Given the description of an element on the screen output the (x, y) to click on. 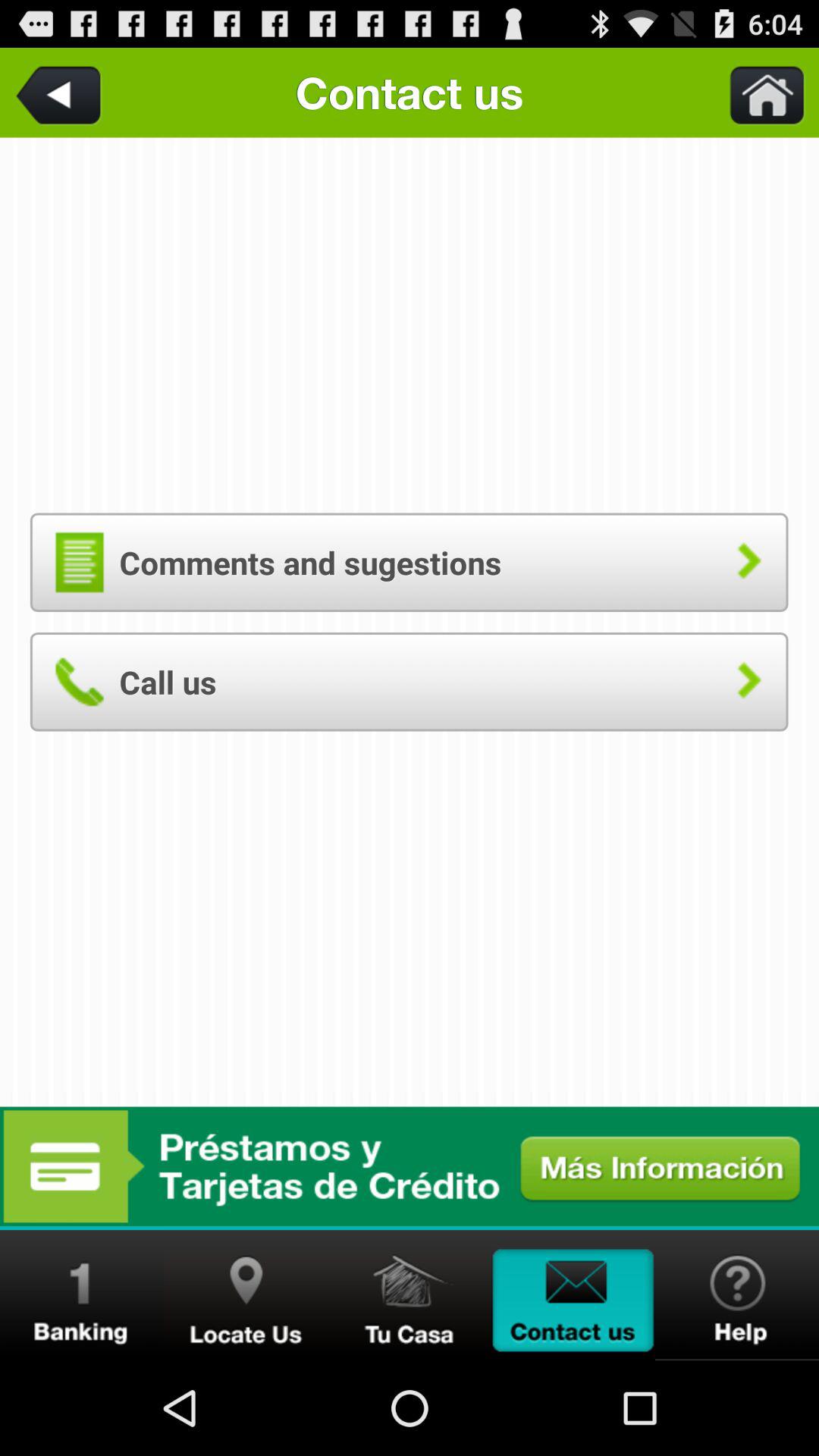
scroll until call us button (409, 681)
